Given the description of an element on the screen output the (x, y) to click on. 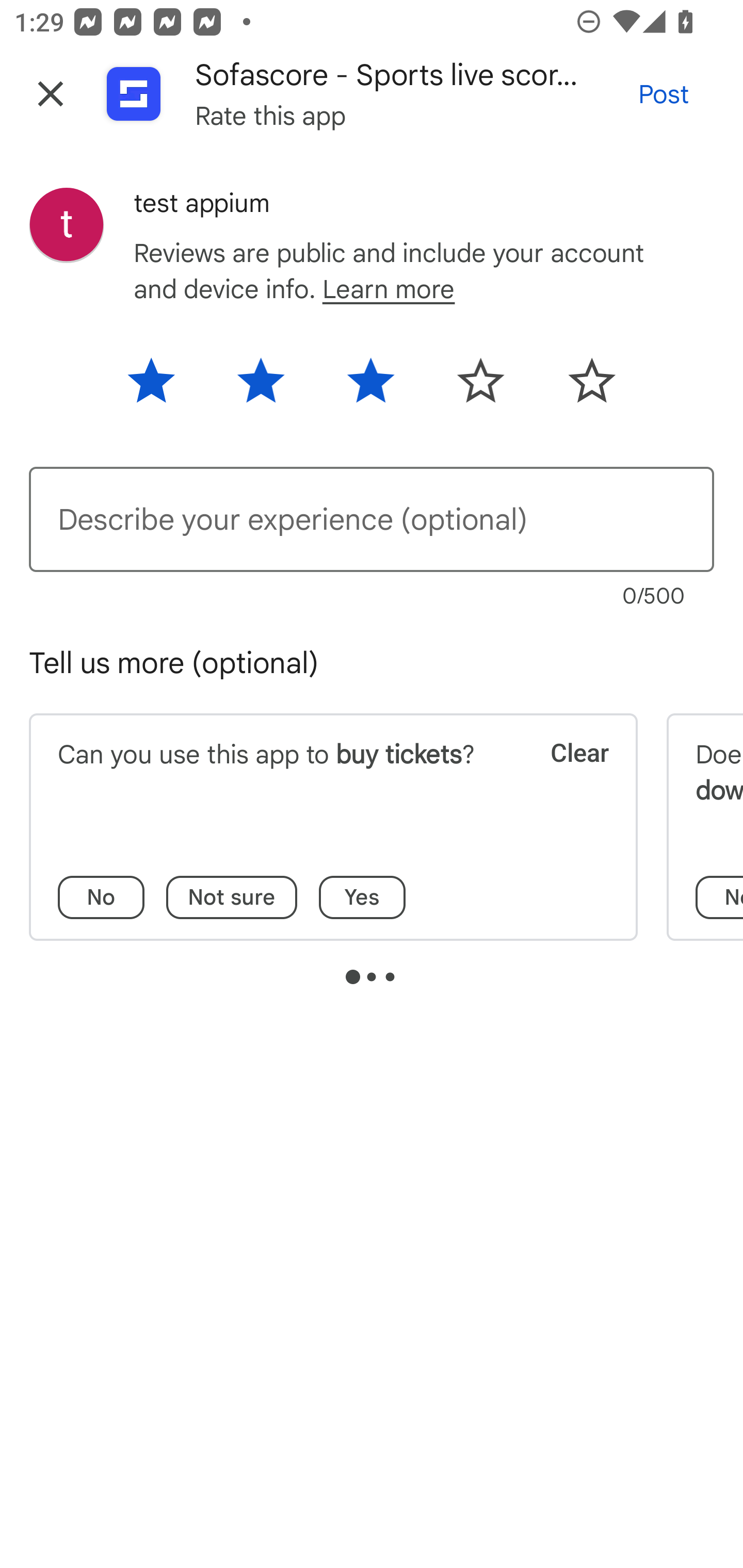
Close (50, 93)
Post (663, 93)
First star selected (163, 387)
Second star selected (260, 387)
Third star selected (370, 387)
Fourth star unselected (480, 387)
Fifth star unselected (577, 387)
Describe your experience (optional) (371, 519)
Clear (565, 778)
No (100, 897)
Not sure (231, 897)
Yes (361, 897)
